Given the description of an element on the screen output the (x, y) to click on. 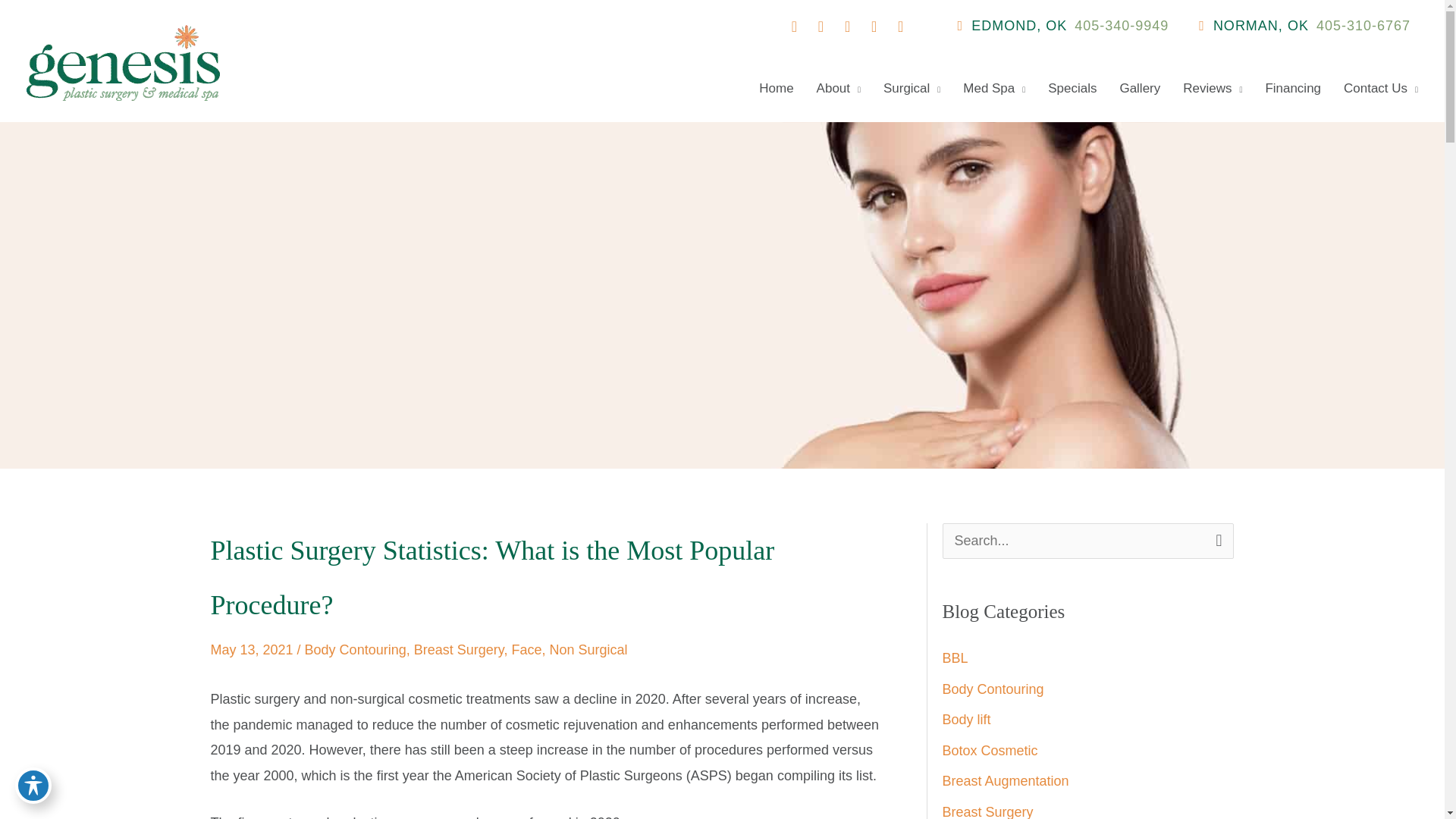
NORMAN, OK (1253, 25)
EDMOND, OK (1012, 25)
405-310-6767 (1363, 25)
405-340-9949 (1121, 25)
Home (764, 88)
About (826, 88)
Surgical (900, 88)
